Given the description of an element on the screen output the (x, y) to click on. 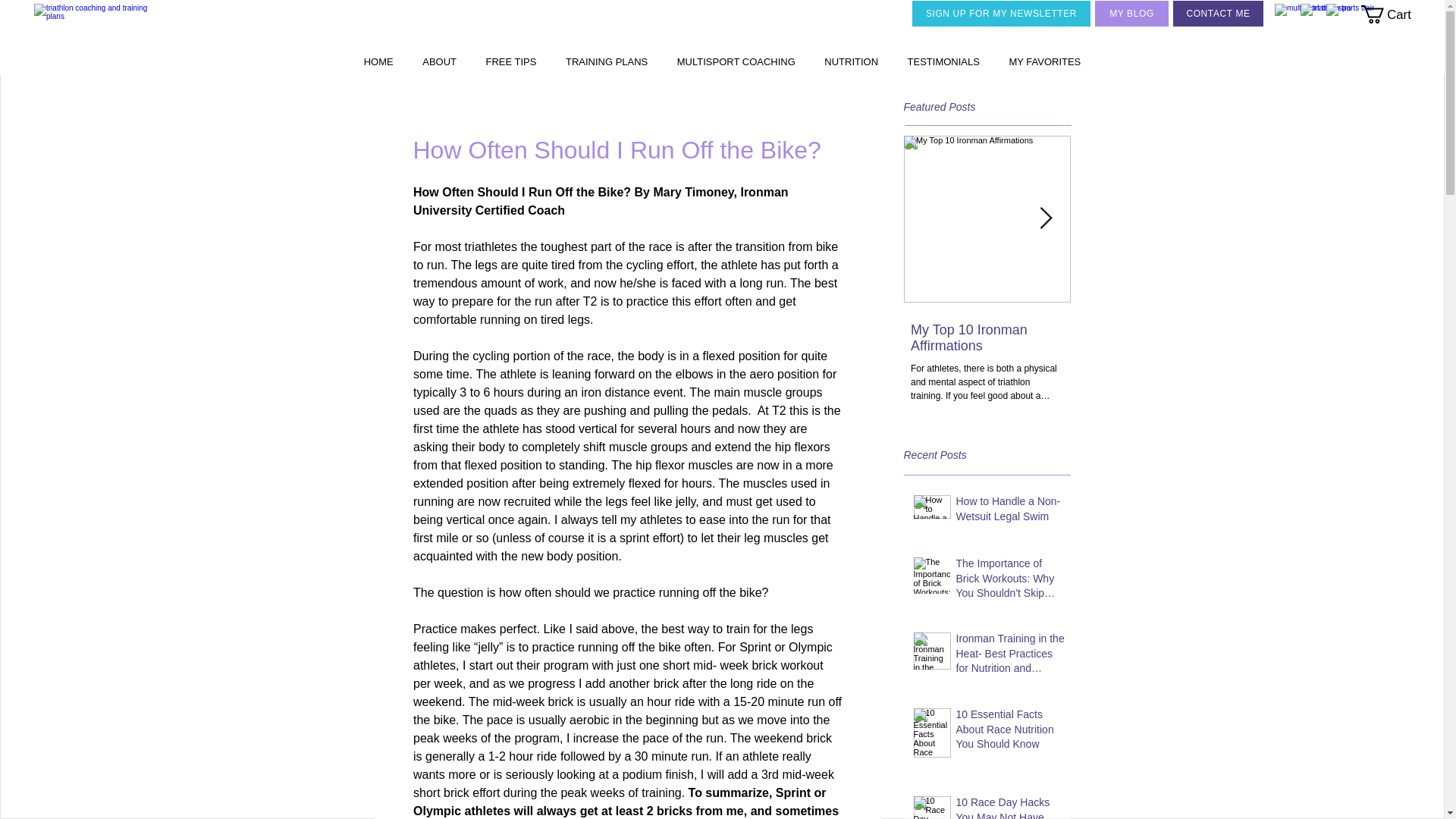
MY BLOG (1131, 13)
Marinewife Multisport (95, 25)
ABOUT (438, 61)
HOME (378, 61)
Cart (1395, 13)
TRAINING PLANS (607, 61)
FREE TIPS (509, 61)
TESTIMONIALS (942, 61)
CONTACT ME (1218, 13)
MULTISPORT COACHING (736, 61)
SIGN UP FOR MY NEWSLETTER (1001, 13)
Cart (1395, 13)
